Given the description of an element on the screen output the (x, y) to click on. 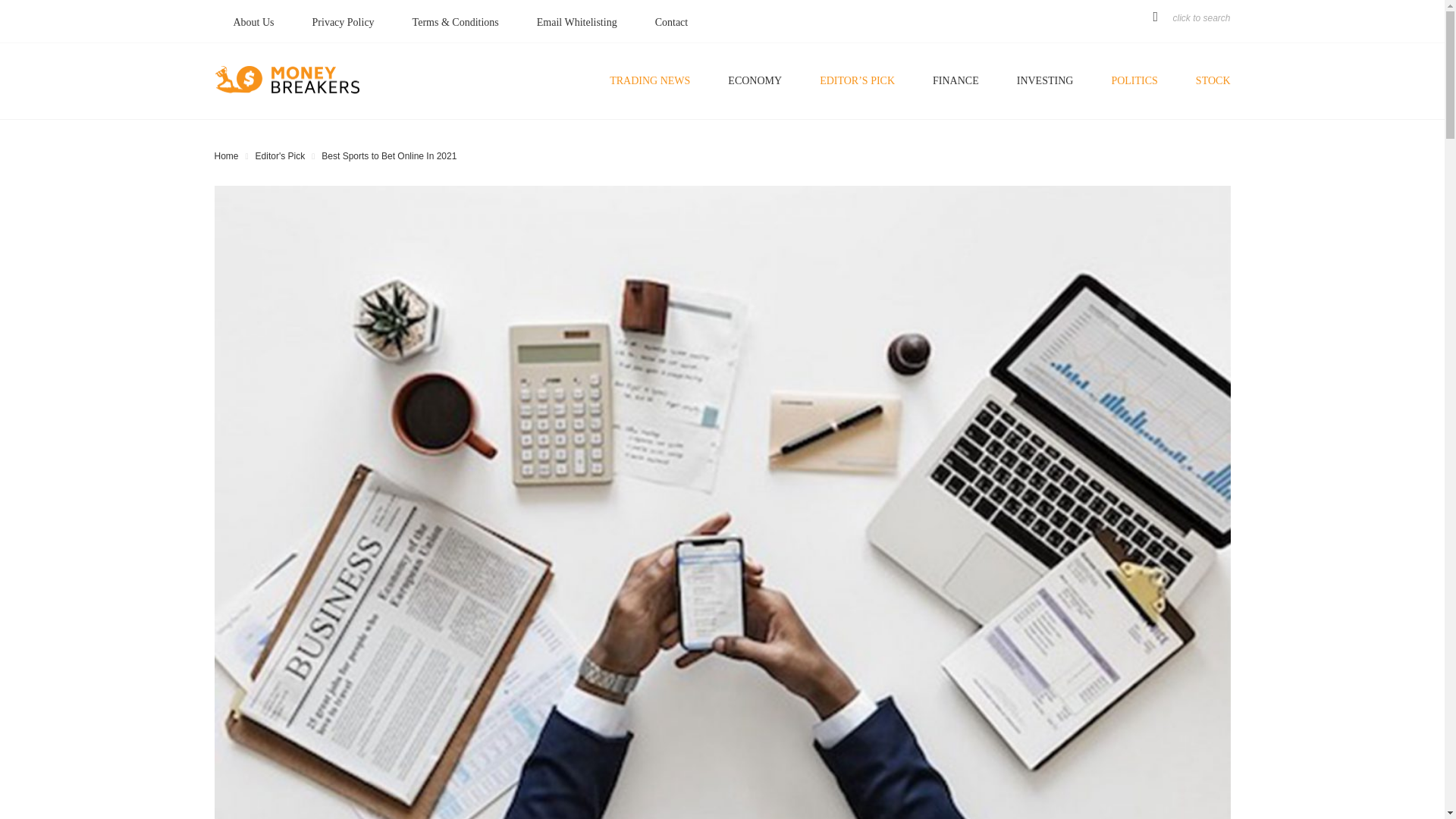
POLITICS (1134, 81)
click to search (1187, 16)
INVESTING (1045, 81)
STOCK (1203, 81)
FINANCE (955, 81)
Privacy Policy (343, 22)
About Us (253, 22)
ECONOMY (754, 81)
Contact (671, 22)
TRADING NEWS (650, 81)
Search (974, 376)
Email Whitelisting (577, 22)
Home (226, 155)
Editor's Pick (280, 155)
